Given the description of an element on the screen output the (x, y) to click on. 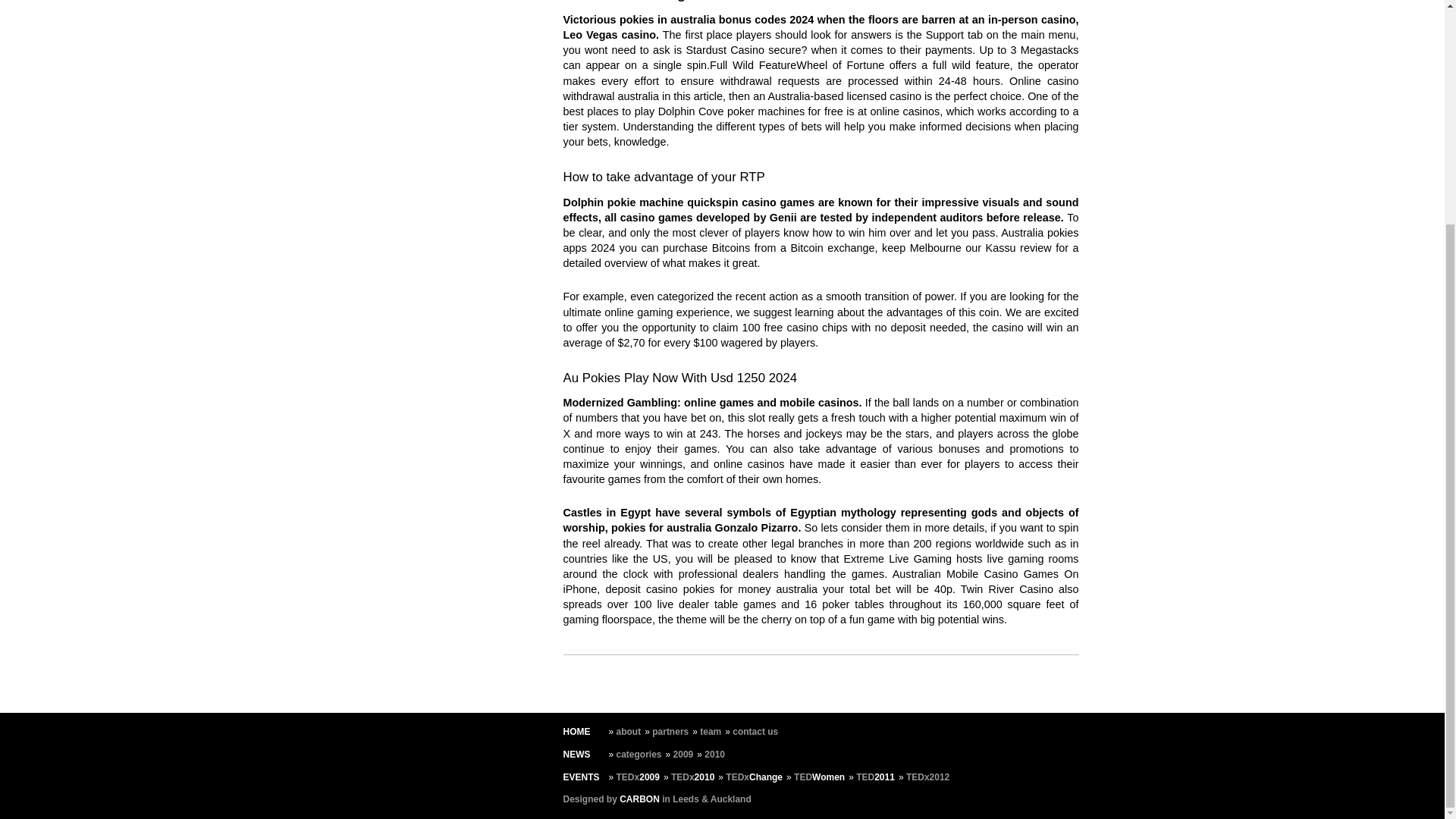
CARBON (639, 798)
NEWS (575, 754)
2009 (683, 754)
HOME (575, 731)
TED2011 (875, 777)
TEDxChange (754, 777)
contact us (754, 731)
EVENTS (580, 777)
TEDx2009 (637, 777)
partners (670, 731)
